Given the description of an element on the screen output the (x, y) to click on. 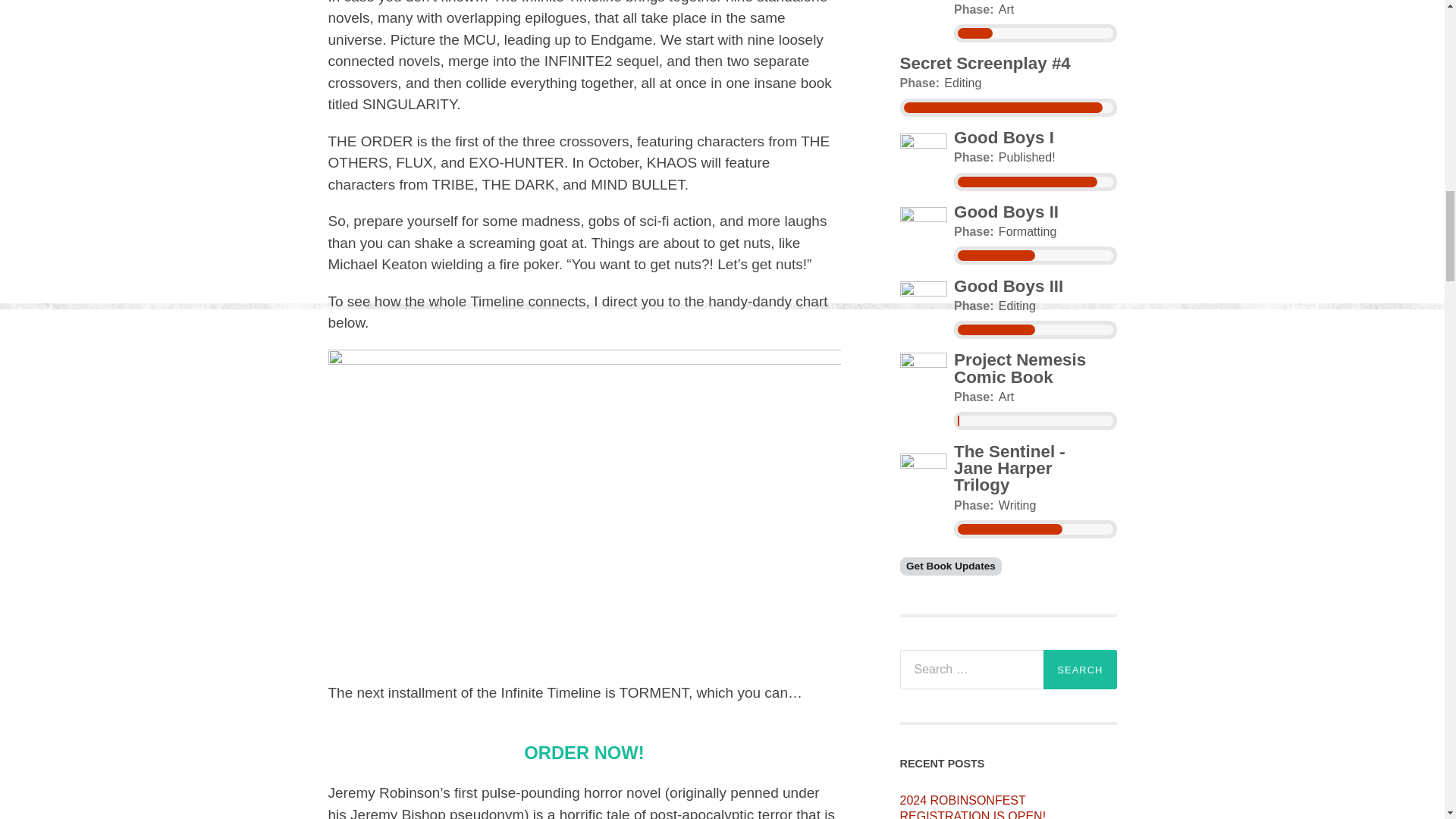
Search (1079, 669)
ORDER NOW! (583, 752)
Search (1079, 669)
